Given the description of an element on the screen output the (x, y) to click on. 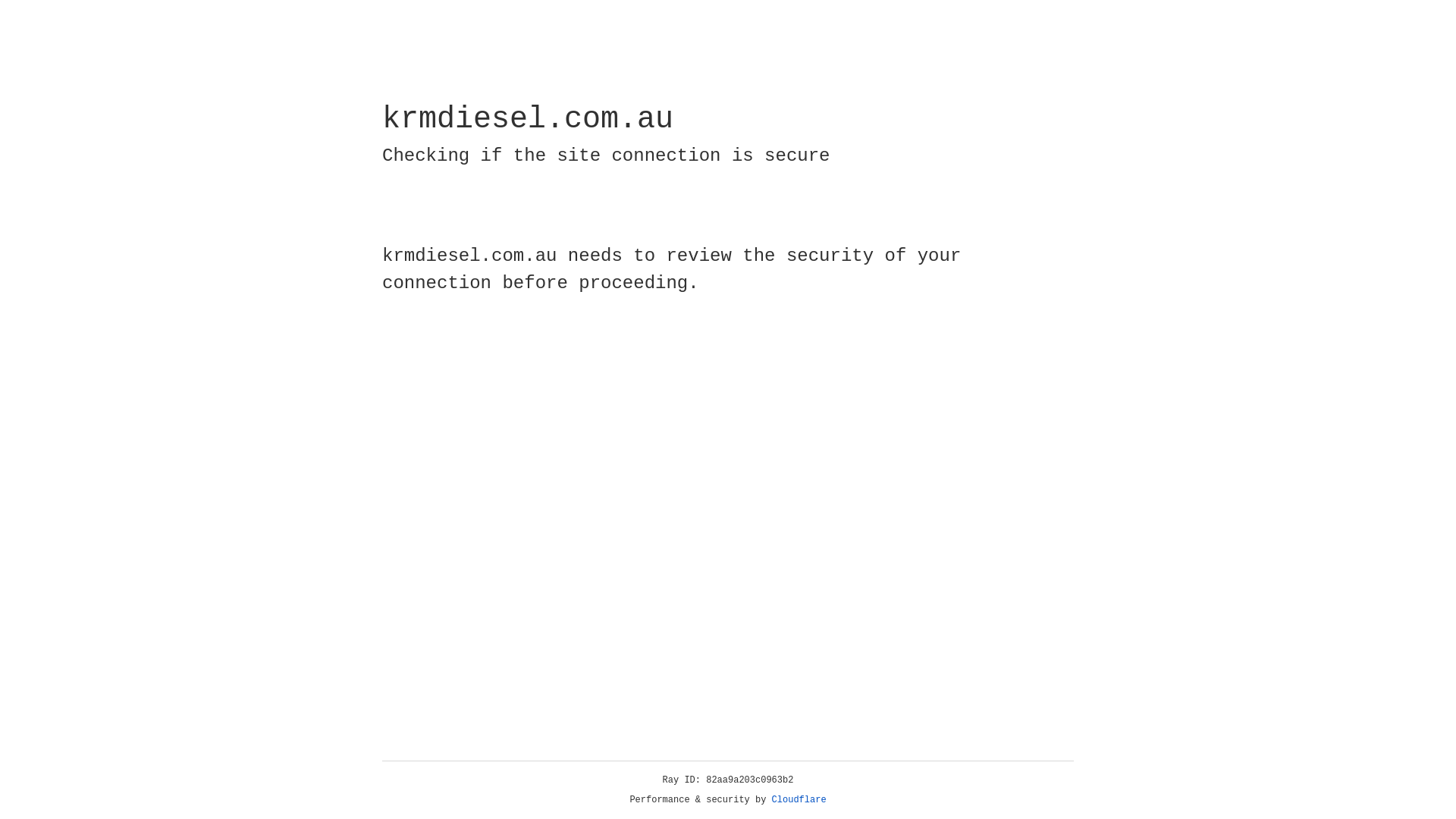
Cloudflare Element type: text (798, 799)
